Given the description of an element on the screen output the (x, y) to click on. 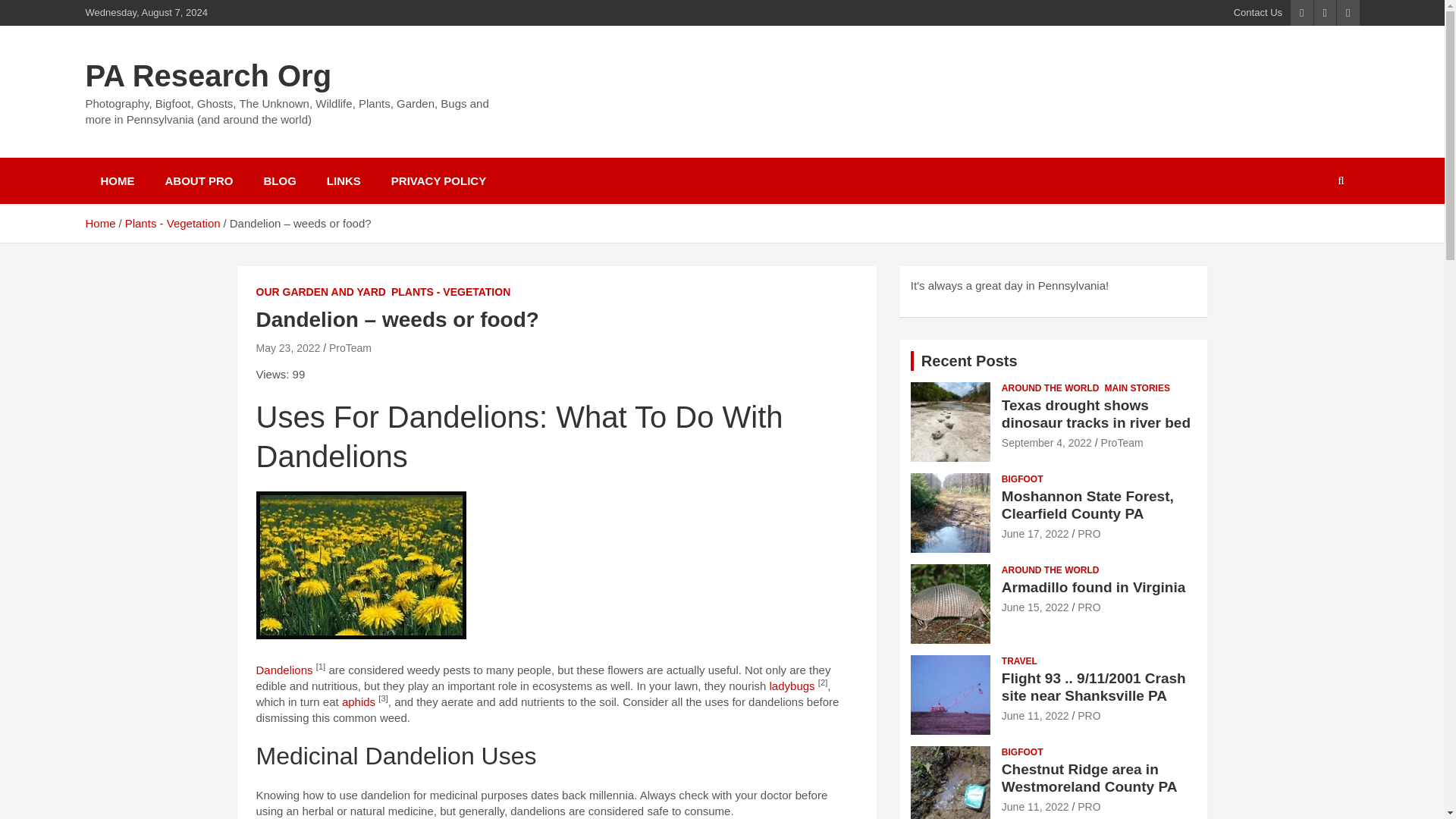
Texas drought shows dinosaur tracks in river bed (1046, 442)
Armadillo found in Virginia (1034, 607)
MAIN STORIES (1136, 388)
aphids (358, 701)
PLANTS - VEGETATION (451, 292)
Recent Posts (969, 360)
PA Research Org (207, 75)
Dandelions (284, 669)
ProTeam (350, 347)
BLOG (279, 180)
May 23, 2022 (288, 347)
AROUND THE WORLD (1050, 388)
ABOUT PRO (198, 180)
LINKS (343, 180)
Moshannon State Forest, Clearfield County PA (1034, 533)
